Given the description of an element on the screen output the (x, y) to click on. 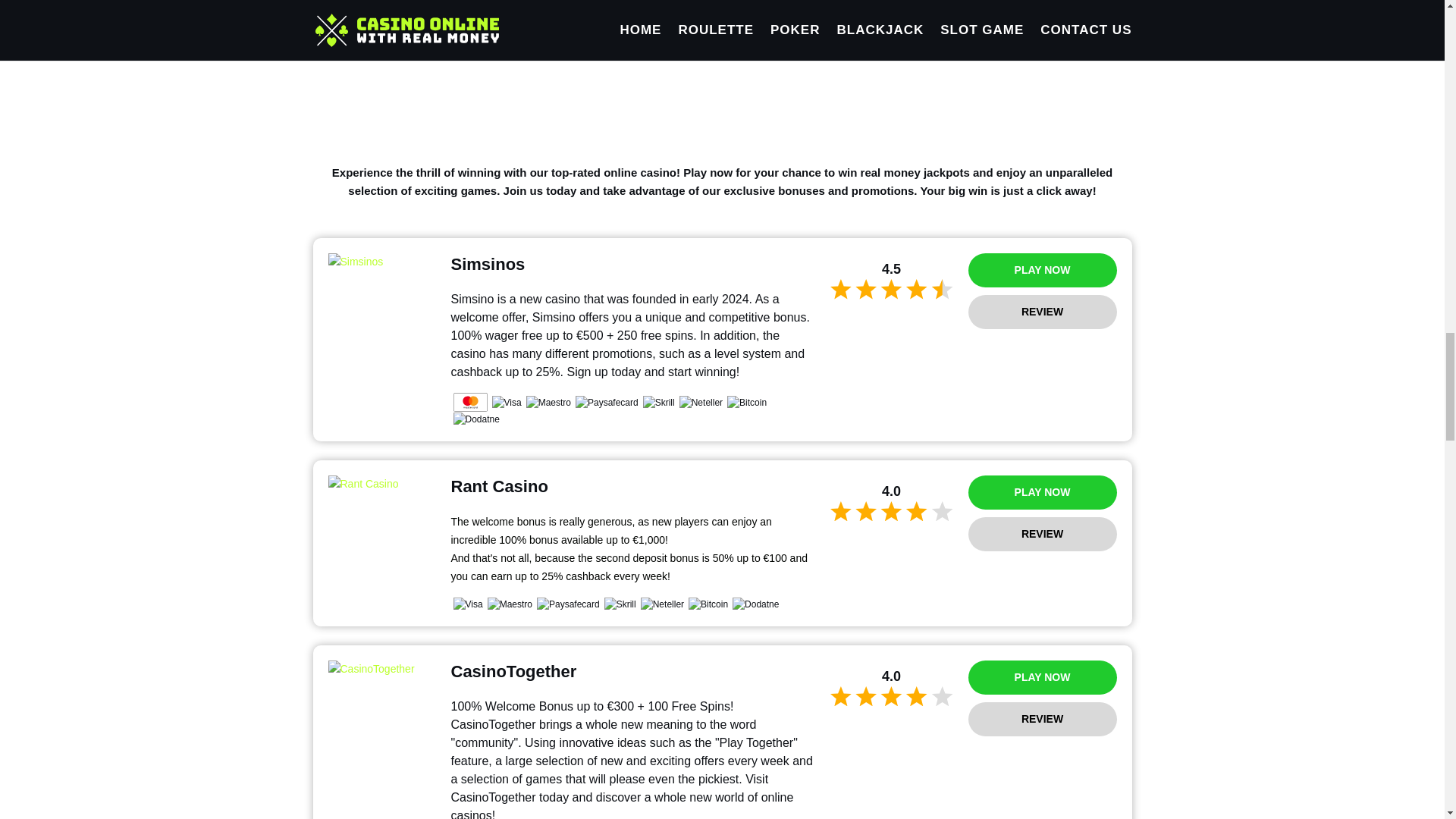
REVIEW (1042, 533)
Mastercard (469, 402)
REVIEW (1042, 718)
PLAY NOW (1042, 492)
PLAY NOW (1042, 270)
Neteller (700, 402)
Maestro (509, 603)
Paysafecard (607, 402)
Simsinos (381, 262)
Bitcoin (746, 402)
Paysafecard (568, 603)
Maestro (547, 402)
Visa (506, 402)
Rant Casino (381, 484)
Visa (467, 603)
